Given the description of an element on the screen output the (x, y) to click on. 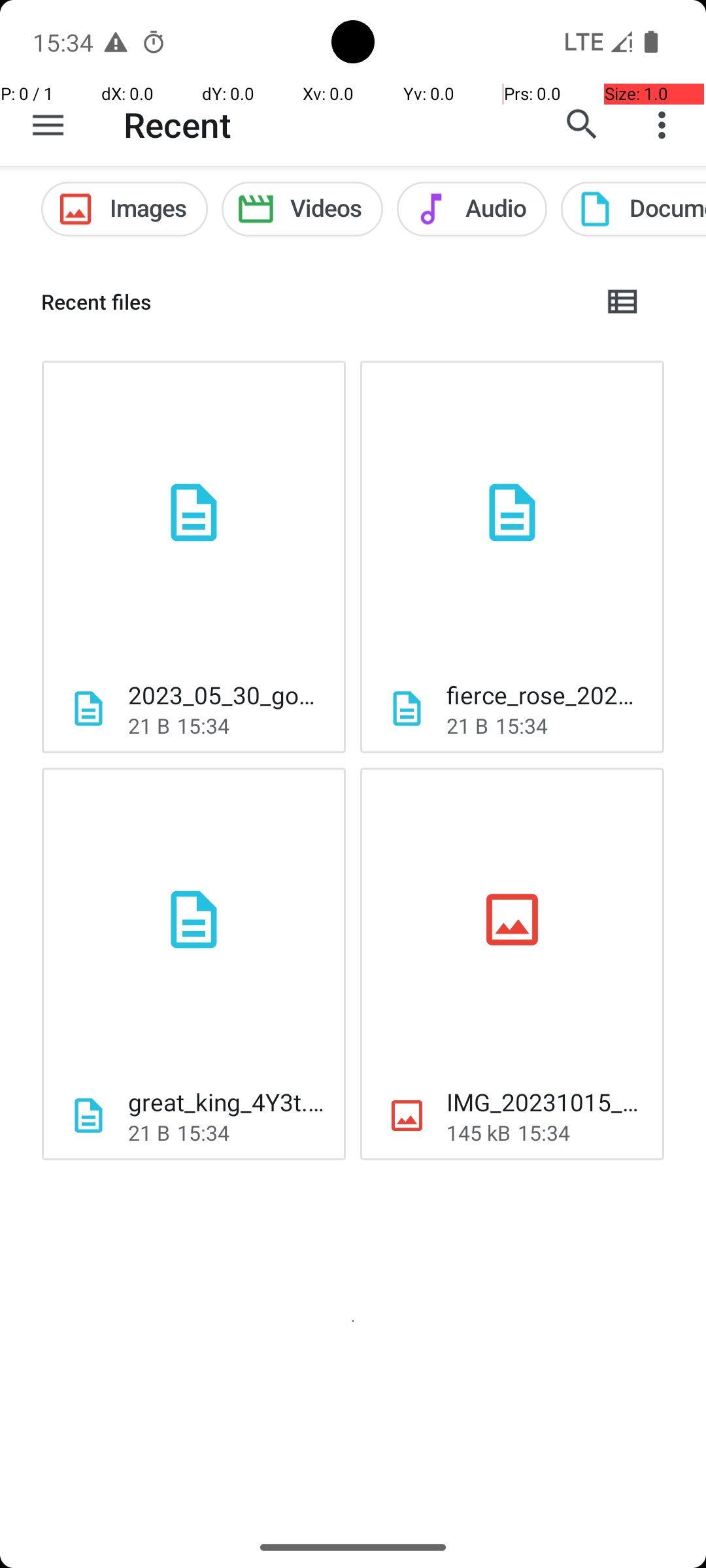
Recent files Element type: android.widget.TextView (311, 301)
2023_05_30_good_jacket.txt Element type: android.widget.TextView (226, 694)
21 B Element type: android.widget.TextView (148, 725)
fierce_rose_2023_06_21.md Element type: android.widget.TextView (544, 694)
great_king_4Y3t.md Element type: android.widget.TextView (226, 1101)
IMG_20231015_153414.jpg Element type: android.widget.TextView (544, 1101)
145 kB Element type: android.widget.TextView (478, 1132)
